Given the description of an element on the screen output the (x, y) to click on. 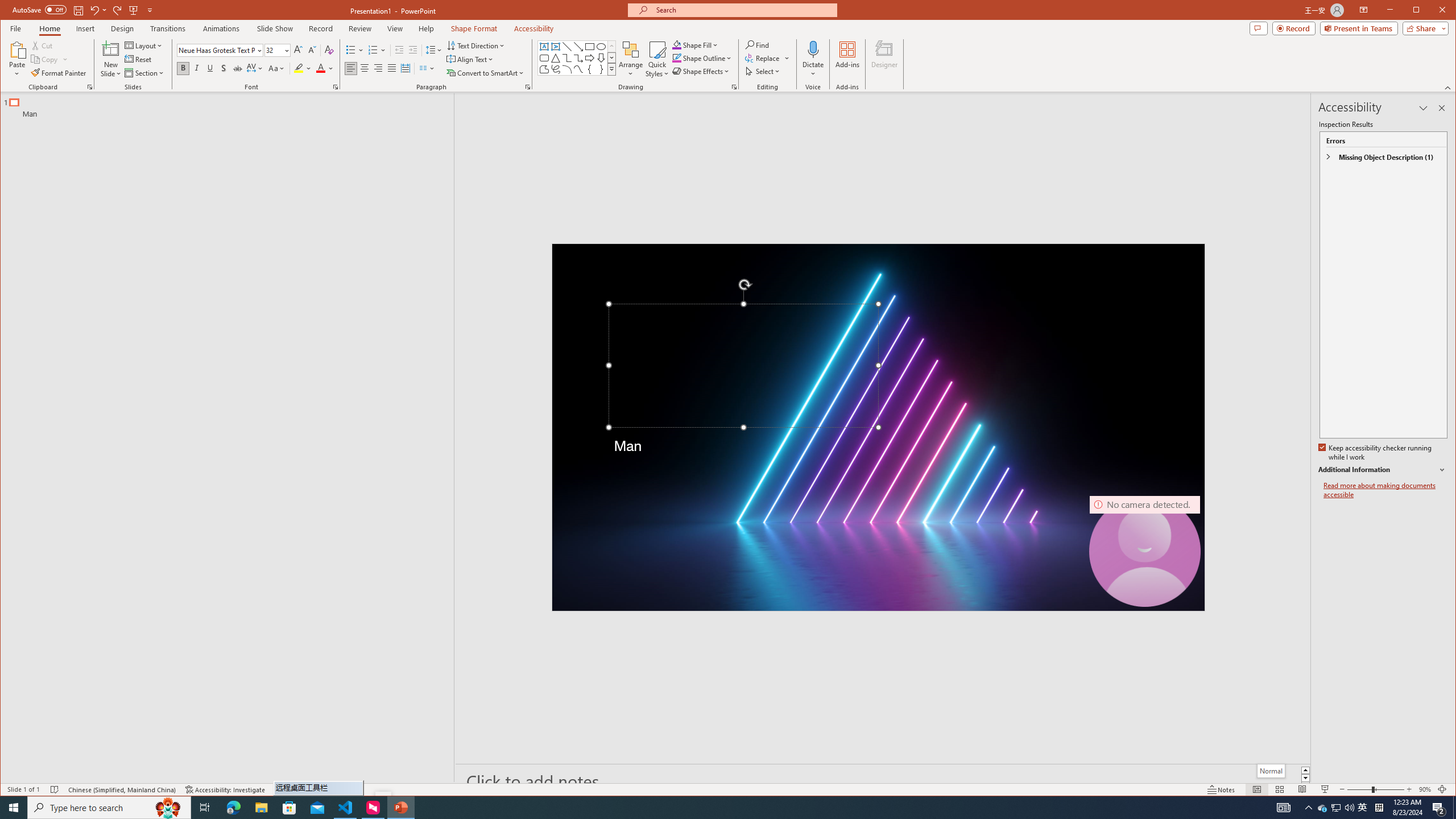
Tray Input Indicator - Chinese (Simplified, China) (1335, 807)
Font... (1378, 807)
Slide Notes (335, 86)
Format Object... (882, 780)
Decrease Font Size (733, 86)
Justify (311, 49)
Text Highlight Color Yellow (391, 68)
Curve (298, 68)
Show desktop (577, 69)
